Given the description of an element on the screen output the (x, y) to click on. 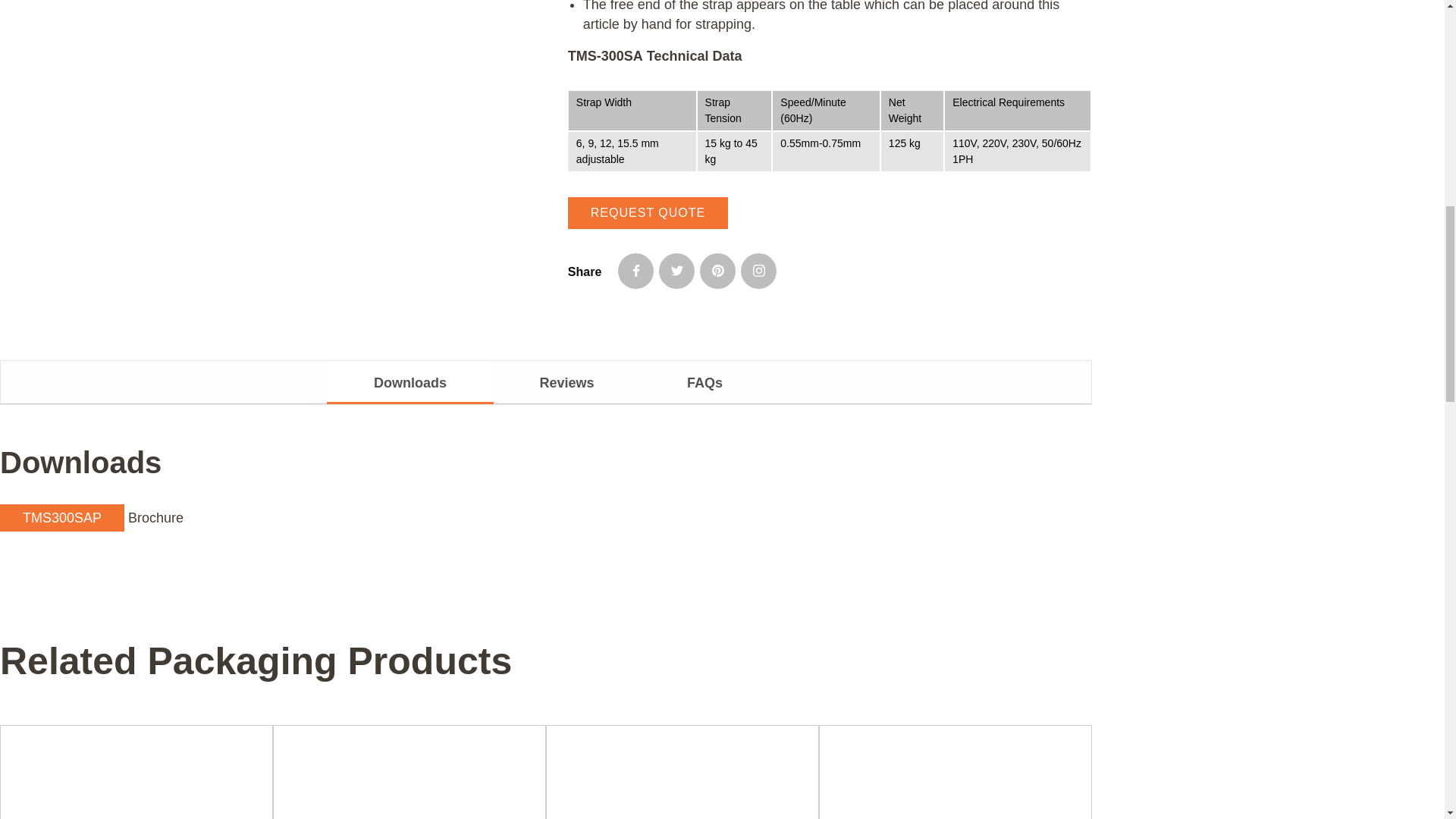
TWITTER (676, 270)
INSTAGRAM (758, 270)
PINTEREST (717, 270)
FACEBOOK (636, 270)
